Given the description of an element on the screen output the (x, y) to click on. 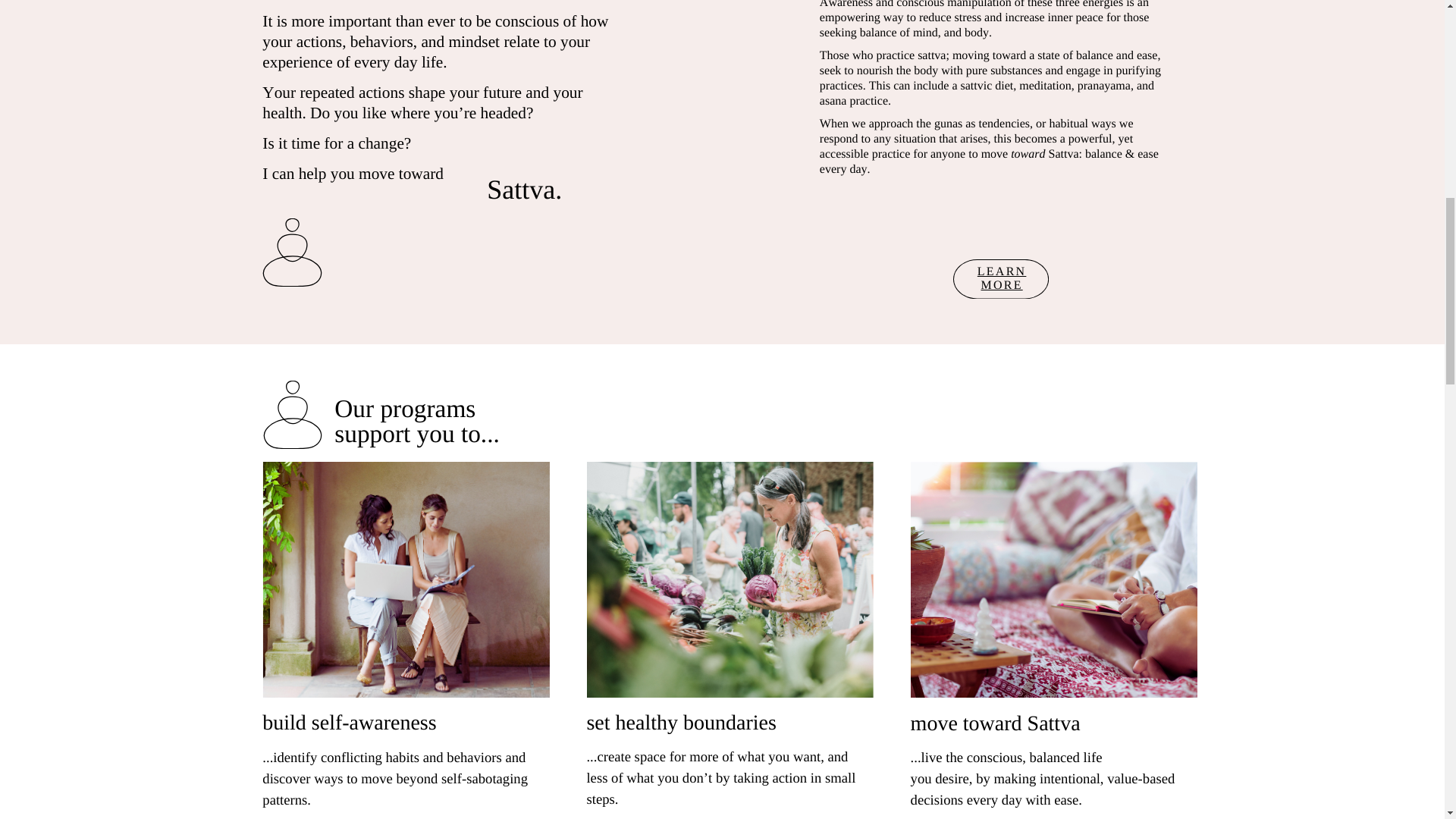
LEARN (1001, 271)
MORE (1000, 285)
